Given the description of an element on the screen output the (x, y) to click on. 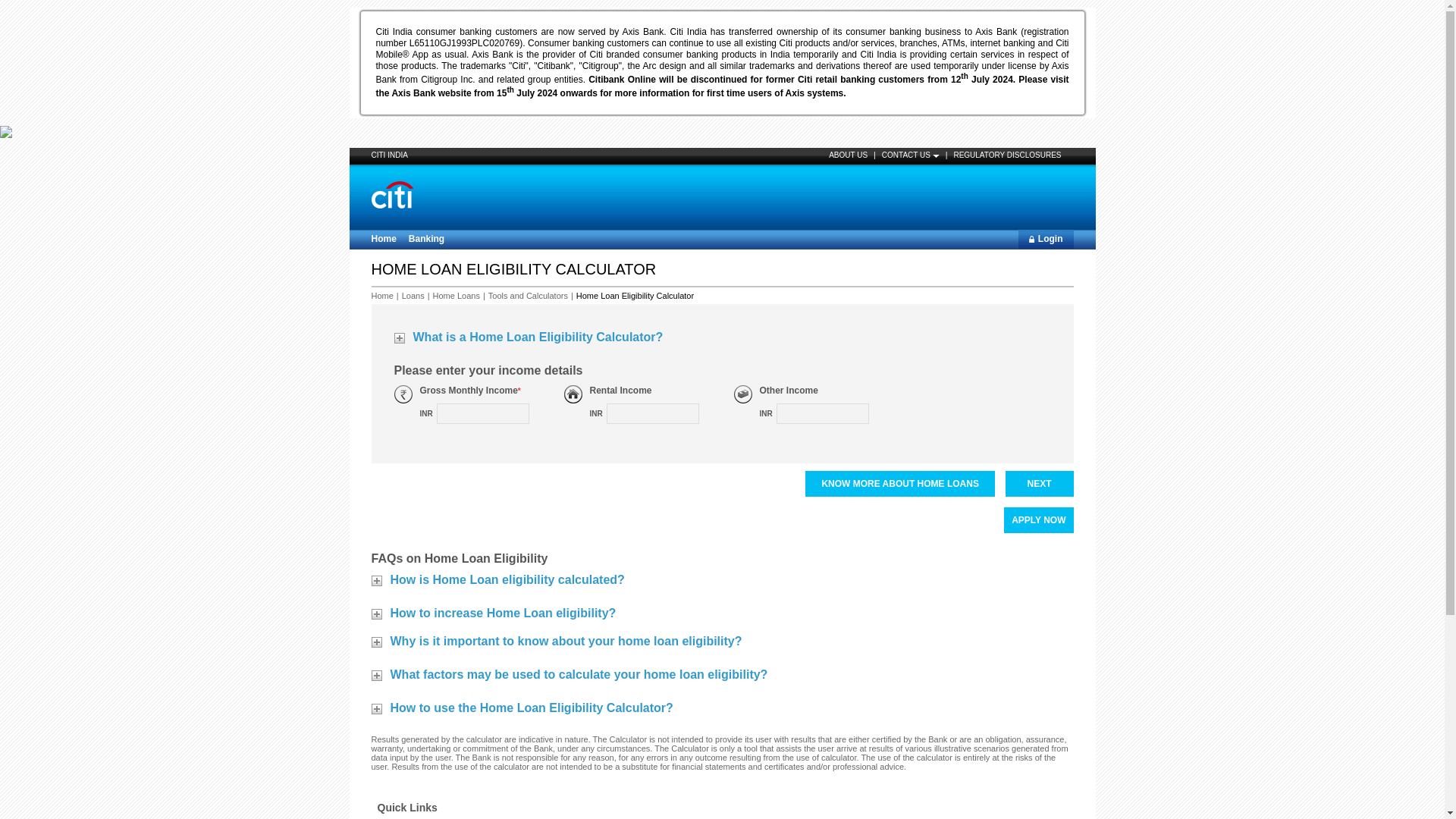
ABOUT US (847, 153)
Home Loans (456, 295)
Home (382, 295)
NEXT (1040, 483)
Loans (413, 295)
REGULATORY DISCLOSURES (1007, 153)
KNOW MORE ABOUT HOME LOANS (899, 483)
Home (384, 239)
REGULATORY DISCLOSURES (1007, 153)
CITI INDIA (389, 154)
CONTACT US (910, 153)
CITI INDIA (389, 154)
ABOUT US (847, 153)
Login (1045, 239)
What is a Home Loan Eligibility Calculator? (528, 340)
